Given the description of an element on the screen output the (x, y) to click on. 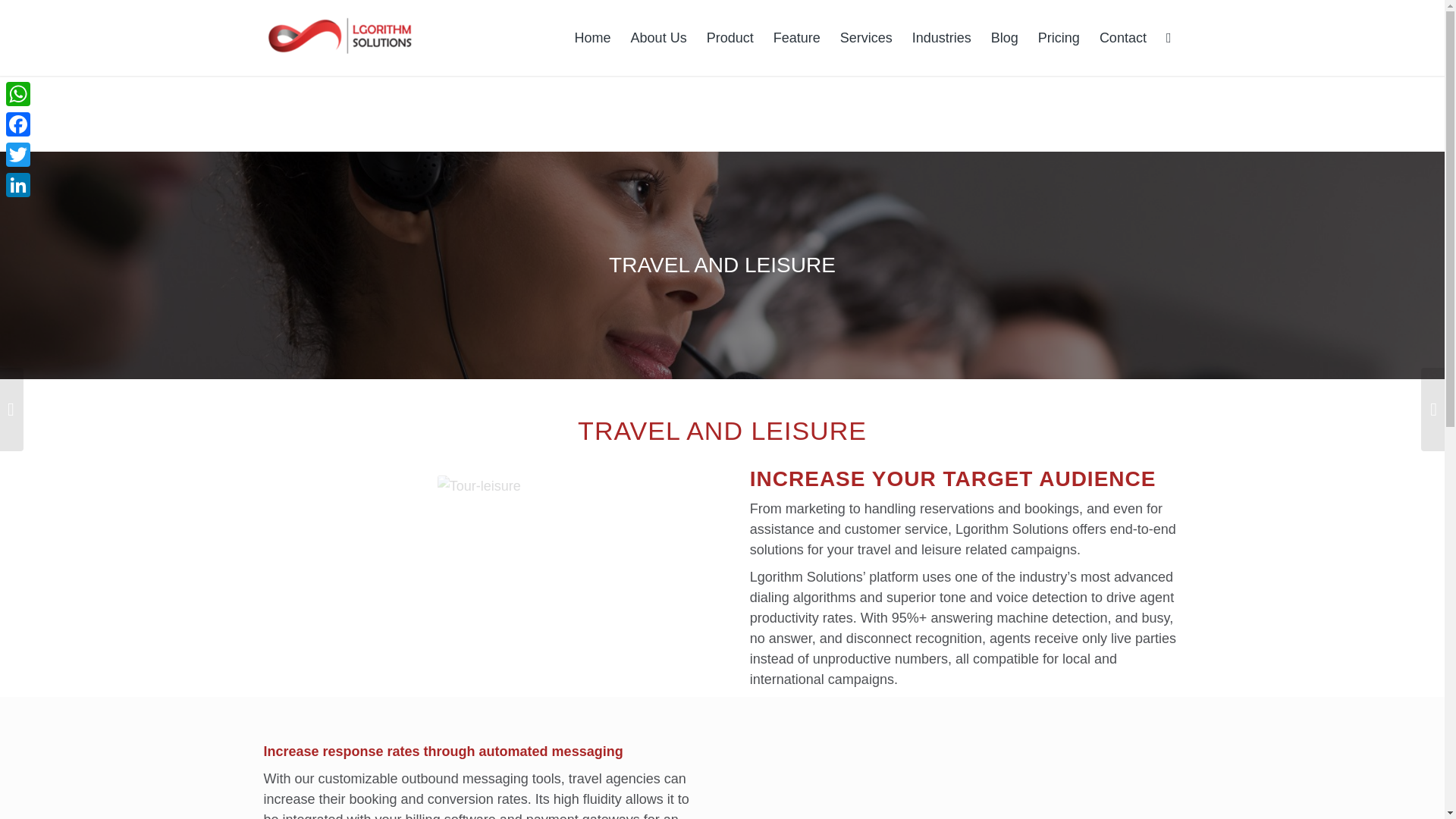
WhatsApp (17, 93)
About Us (659, 38)
Services (865, 38)
LinkedIn (17, 184)
Twitter (17, 154)
Facebook (17, 123)
Industries (941, 38)
